Given the description of an element on the screen output the (x, y) to click on. 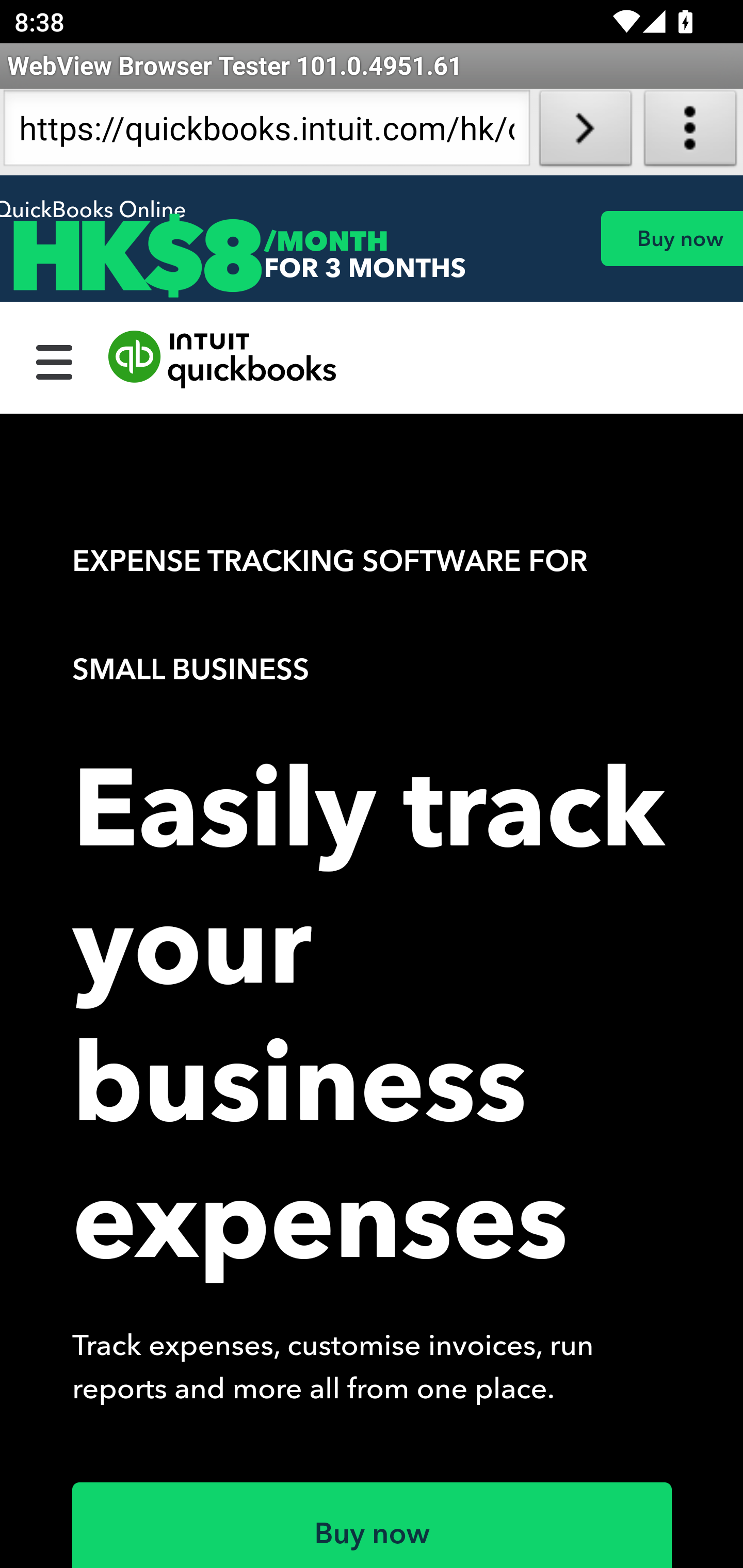
Load URL (585, 132)
About WebView (690, 132)
Buy now (671, 238)
quickbooks-mobile-burger (54, 359)
quickbooks (222, 359)
Buy now (372, 1524)
